Given the description of an element on the screen output the (x, y) to click on. 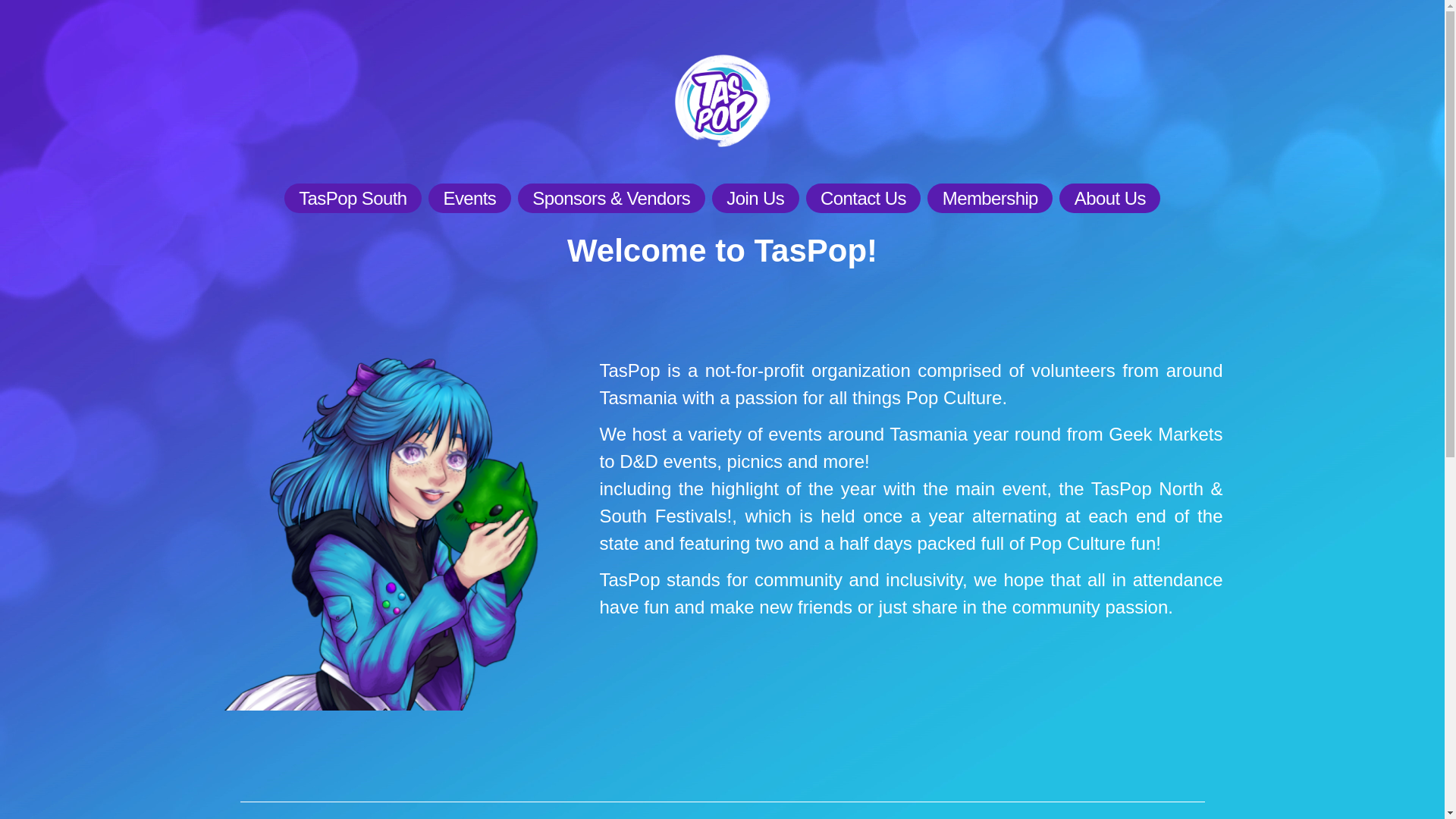
TasPop South Element type: text (352, 198)
Join Us Element type: text (755, 198)
About Us Element type: text (1109, 198)
Events Element type: text (469, 198)
Sponsors & Vendors Element type: text (611, 198)
Contact Us Element type: text (863, 198)
Membership Element type: text (989, 198)
